Given the description of an element on the screen output the (x, y) to click on. 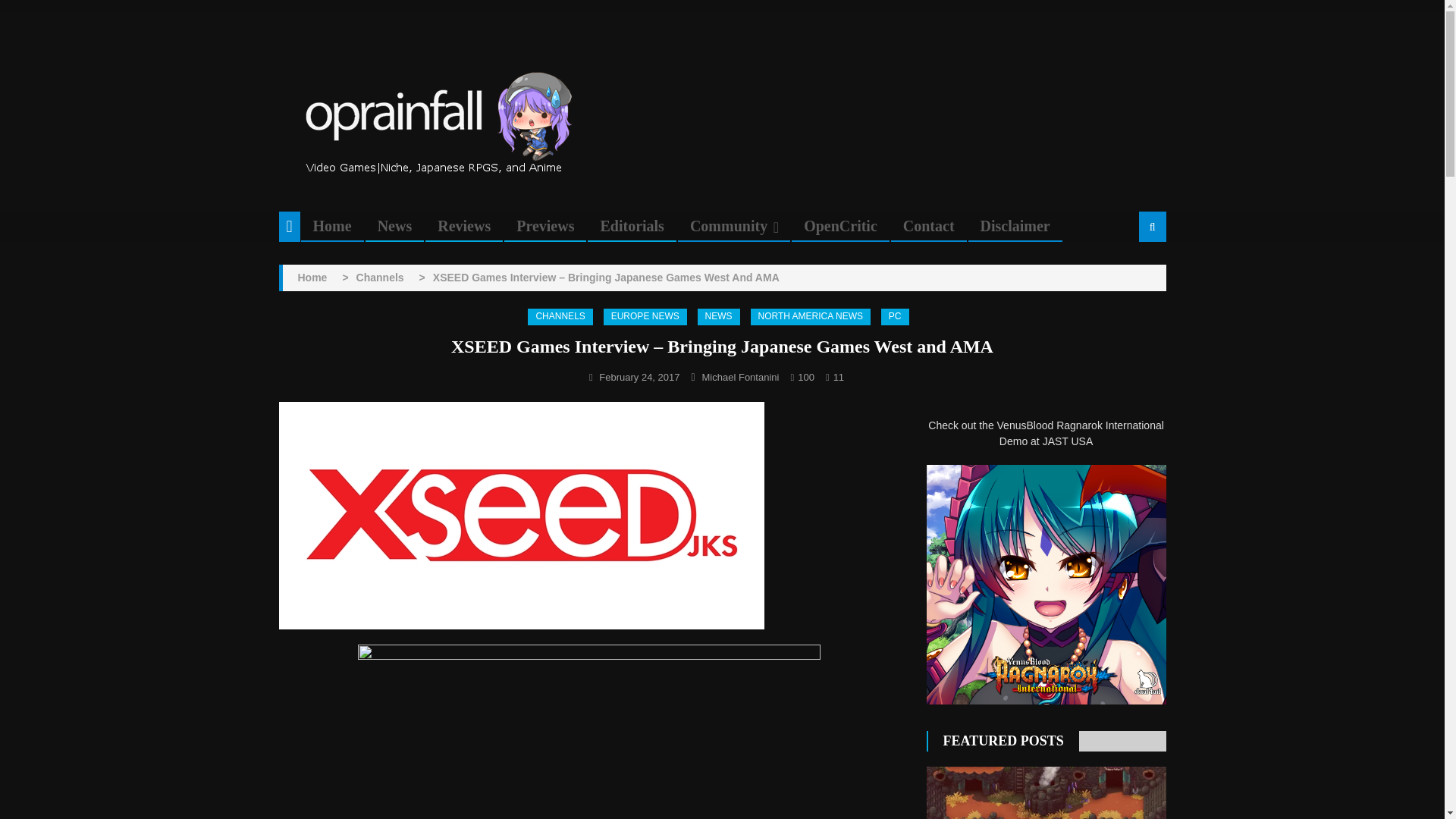
Community (728, 225)
EUROPE NEWS (645, 316)
Reviews (464, 225)
Editorials (631, 225)
Search (1133, 277)
Contact (928, 225)
February 24, 2017 (638, 377)
Previews (545, 225)
Contact (928, 225)
NEWS (718, 316)
CHANNELS (559, 316)
News (394, 225)
Channels (380, 277)
Disclaimer (1015, 225)
11 (838, 377)
